Given the description of an element on the screen output the (x, y) to click on. 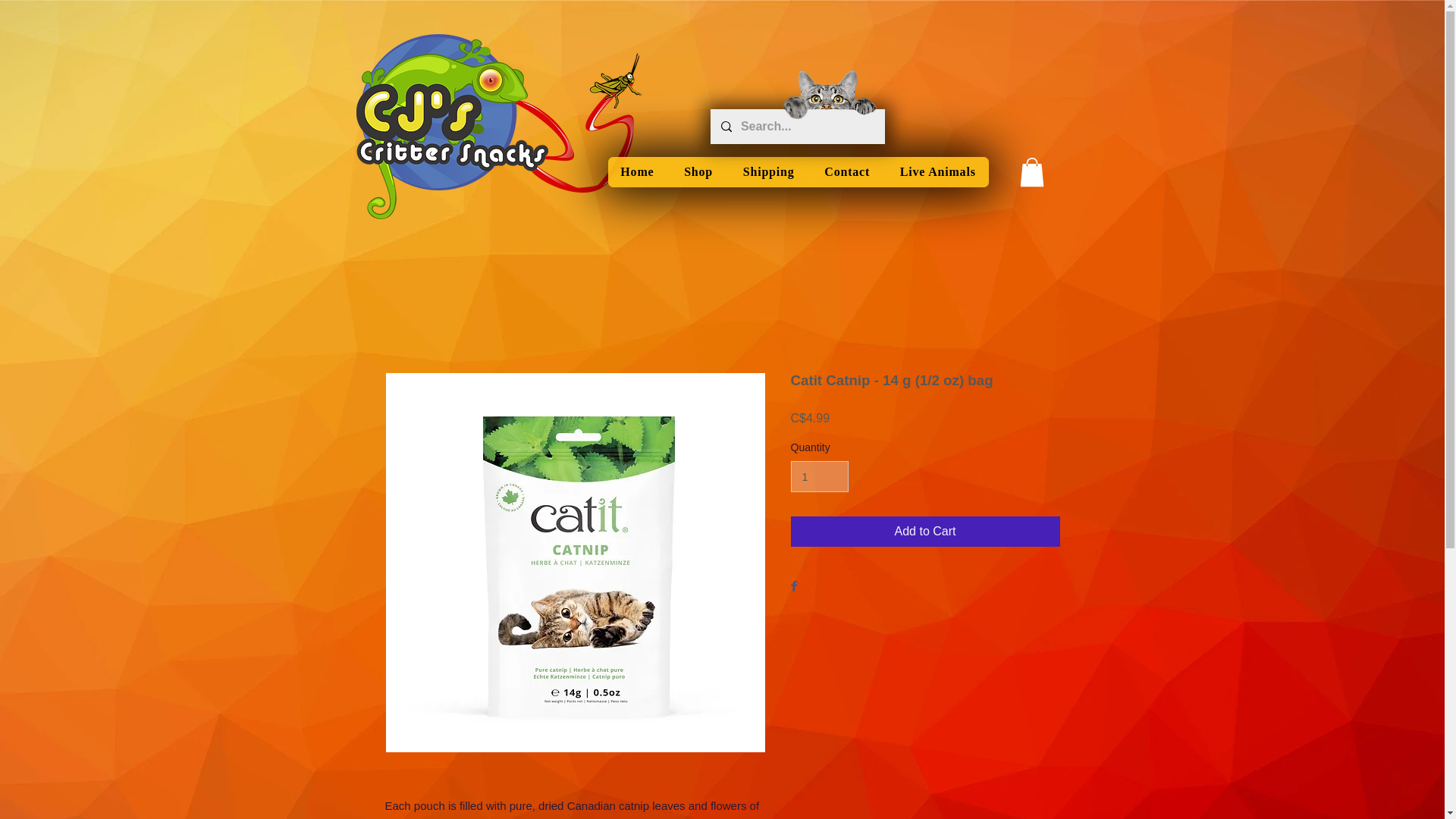
Live Animals (938, 172)
Cjs Critters Snacks logo.png (498, 126)
Shop (698, 172)
Add to Cart (924, 531)
Contact (847, 172)
Shipping (768, 172)
Home (636, 172)
1 (818, 476)
